Given the description of an element on the screen output the (x, y) to click on. 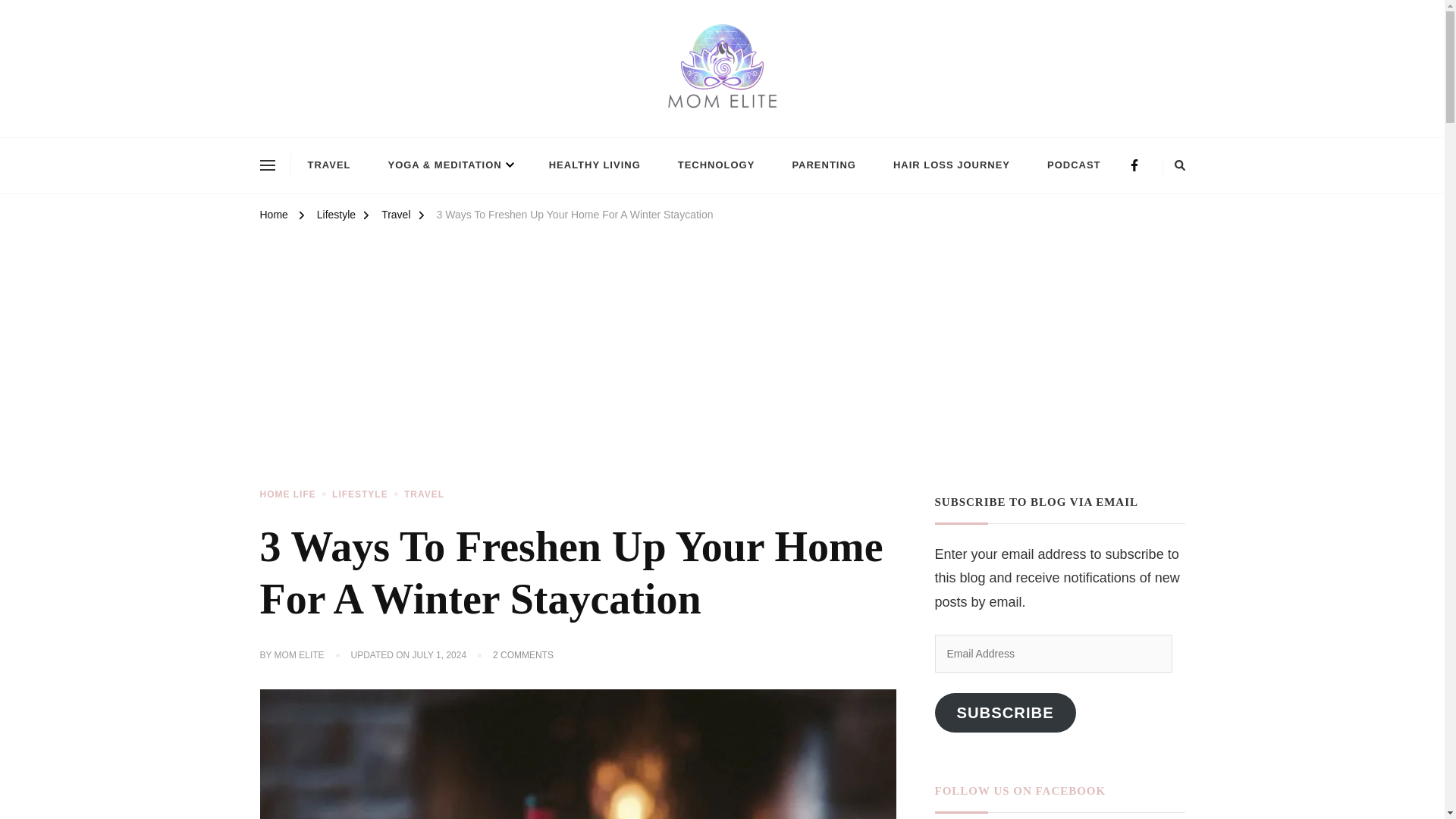
PODCAST (1073, 165)
JULY 1, 2024 (439, 655)
HAIR LOSS JOURNEY (951, 165)
MOM ELITE (299, 655)
TRAVEL (424, 495)
HEALTHY LIVING (595, 165)
LIFESTYLE (366, 495)
Mom Elite (310, 129)
